Given the description of an element on the screen output the (x, y) to click on. 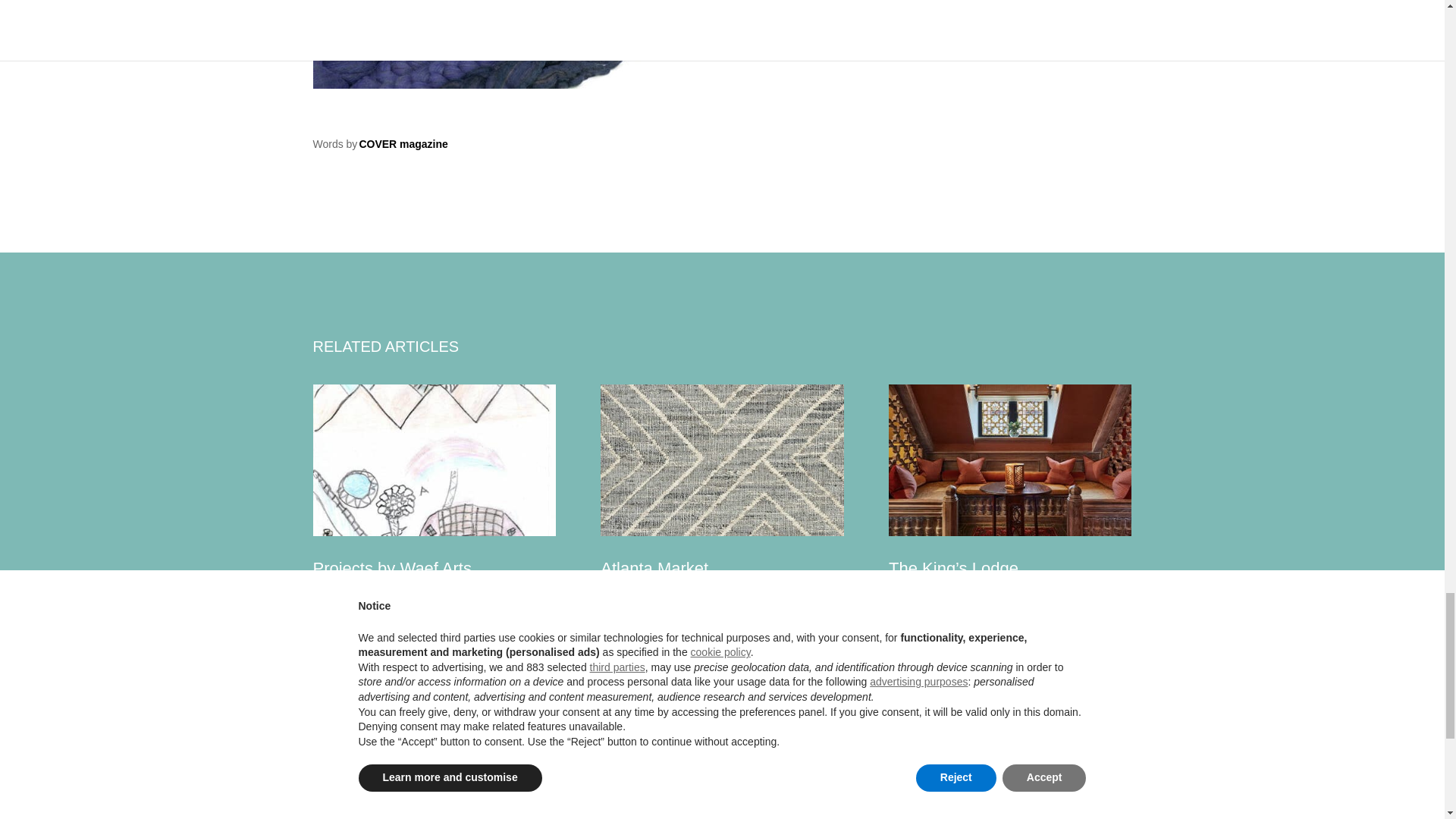
COVER magazine (402, 143)
 - COVER magazine (559, 44)
